Given the description of an element on the screen output the (x, y) to click on. 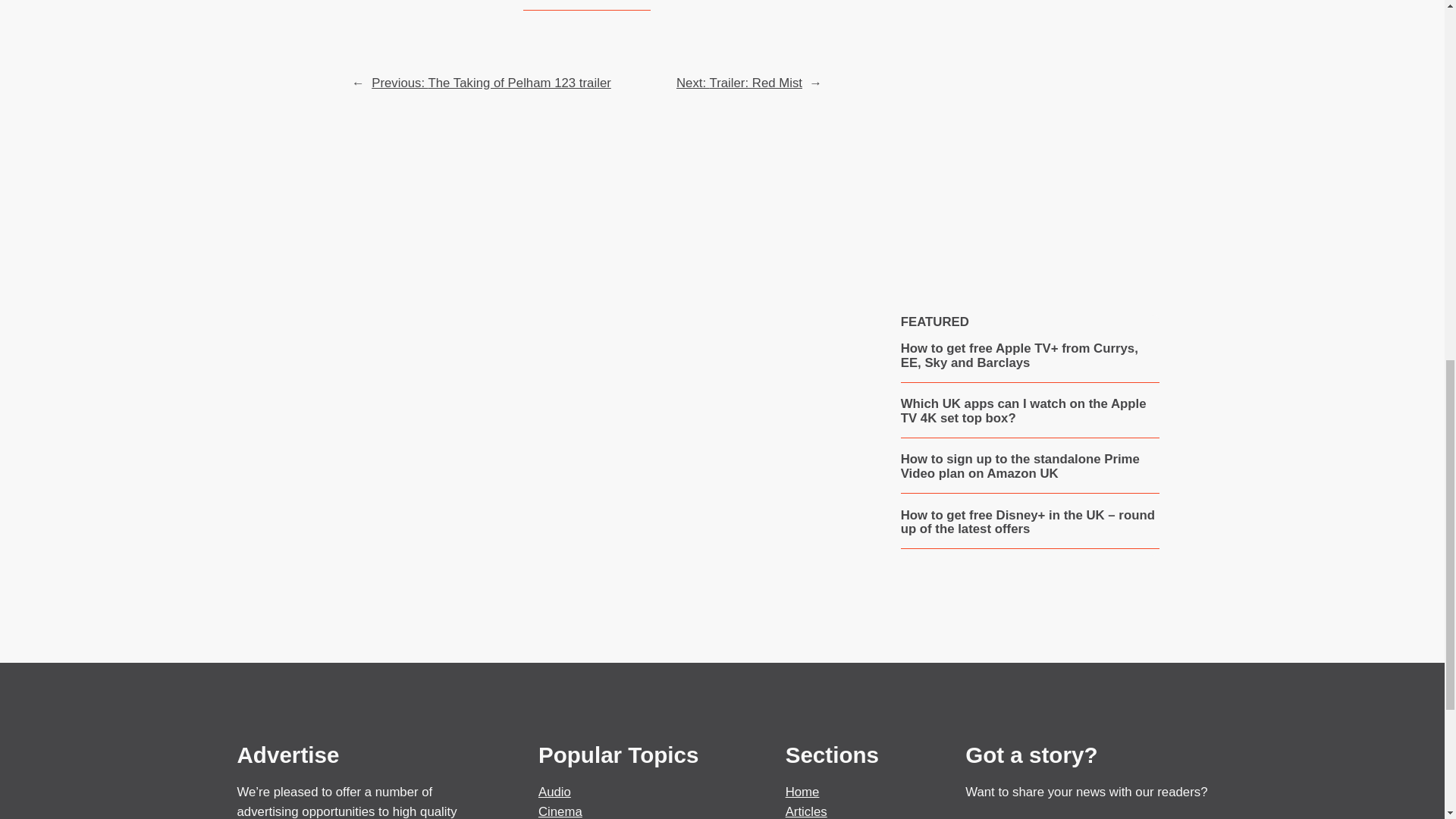
Which UK apps can I watch on the Apple TV 4K set top box? (1029, 411)
Previous: The Taking of Pelham 123 trailer (491, 83)
Articles (806, 811)
Audio (554, 791)
Home (802, 791)
Next: Trailer: Red Mist (739, 83)
Cinema (560, 811)
